Given the description of an element on the screen output the (x, y) to click on. 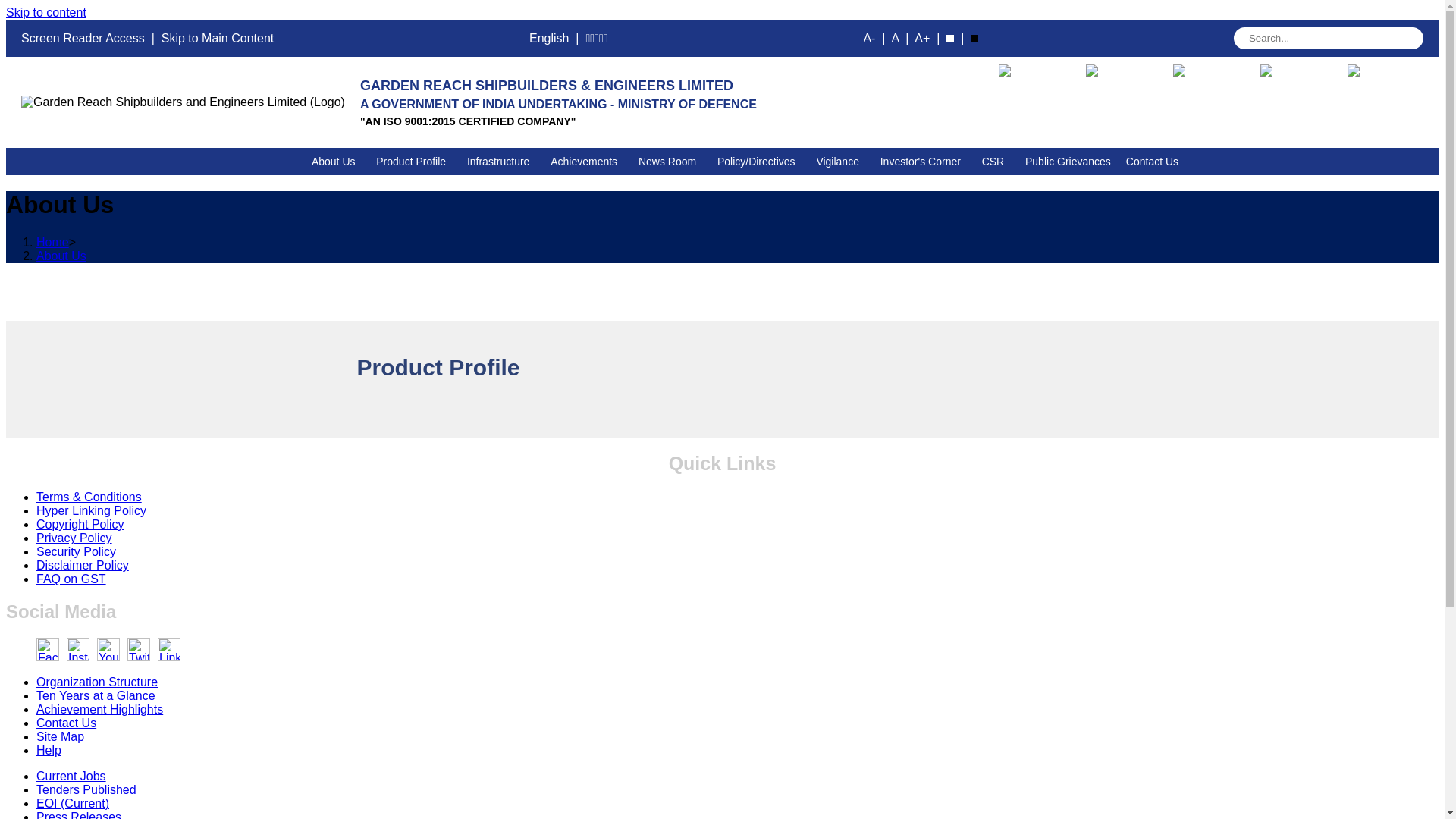
English (549, 38)
Register Vigilance Complaint (1298, 84)
Infrastructure   (501, 161)
Product Profile   (414, 161)
Skip to Main Content (218, 38)
Black Theme (974, 38)
Default Theme (949, 38)
About Us (336, 161)
Search (1328, 38)
Skip to content (45, 11)
